Given the description of an element on the screen output the (x, y) to click on. 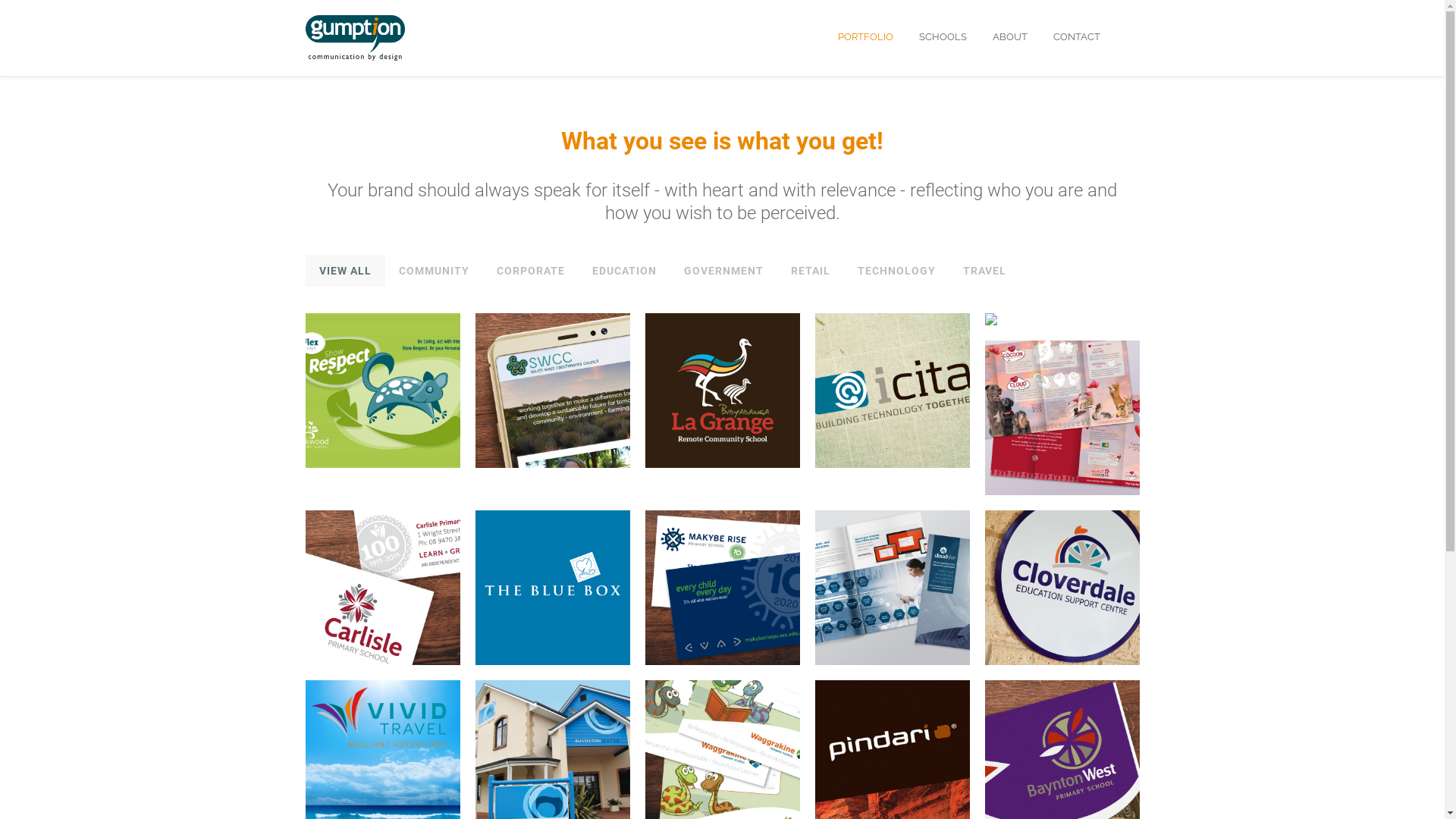
SCHOOLS Element type: text (942, 36)
ABOUT Element type: text (1008, 36)
PORTFOLIO Element type: text (864, 36)
CONTACT Element type: text (1075, 36)
